Given the description of an element on the screen output the (x, y) to click on. 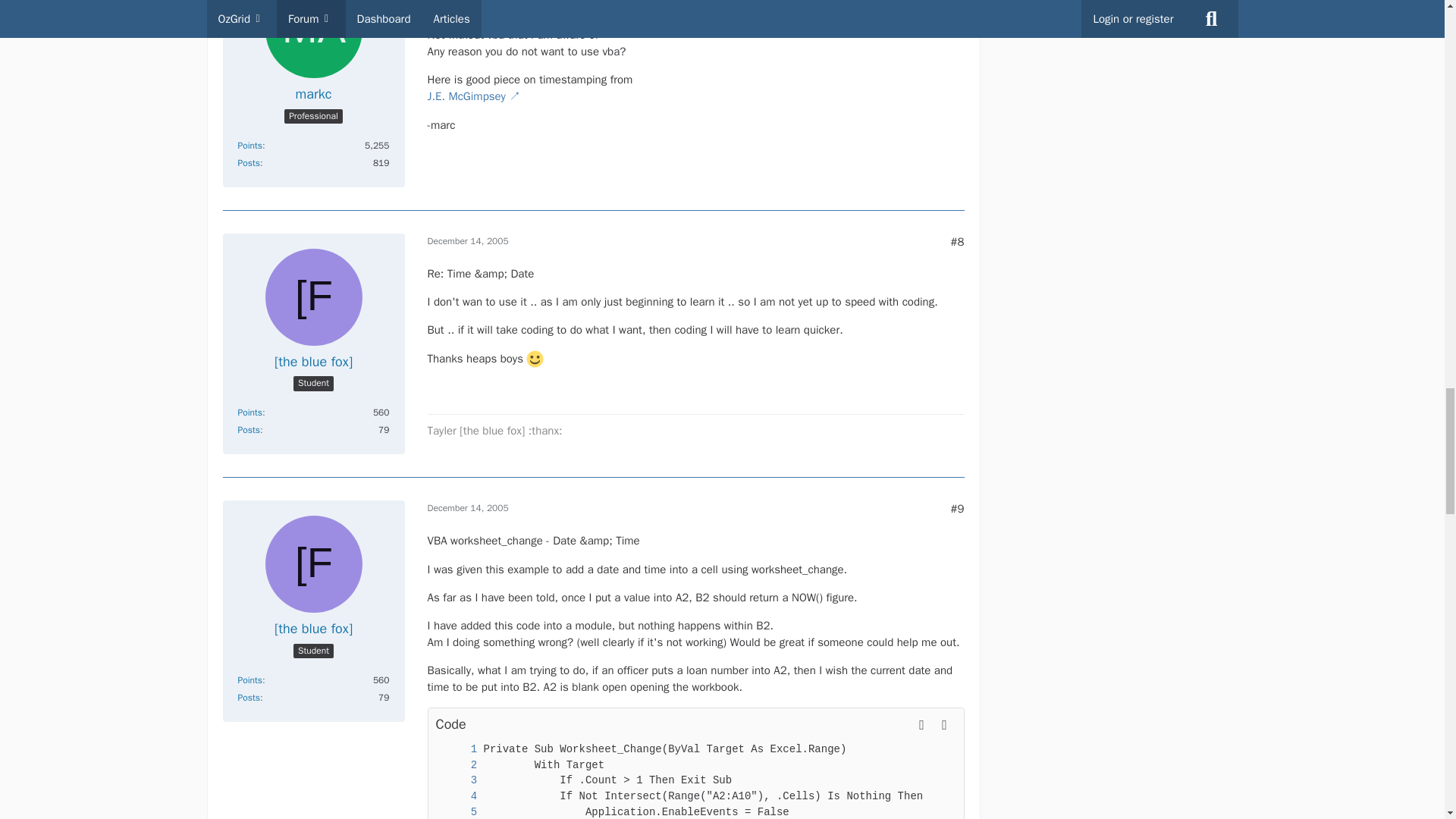
2 (458, 765)
1 (458, 749)
4 (458, 796)
3 (458, 780)
5 (458, 811)
smile (534, 358)
